Given the description of an element on the screen output the (x, y) to click on. 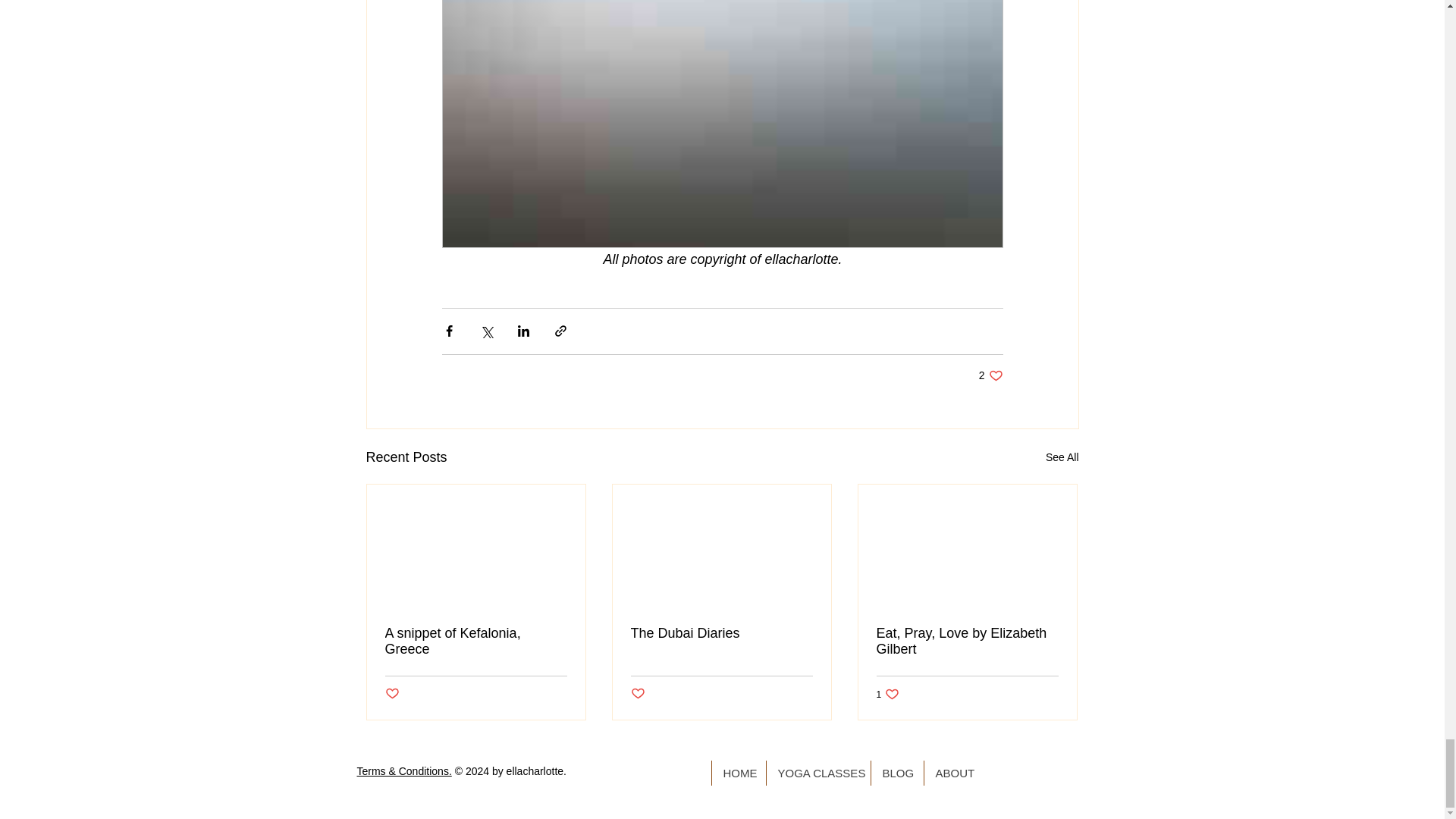
Post not marked as liked (637, 693)
See All (1061, 457)
A snippet of Kefalonia, Greece (476, 641)
The Dubai Diaries (721, 633)
Post not marked as liked (391, 693)
